Given the description of an element on the screen output the (x, y) to click on. 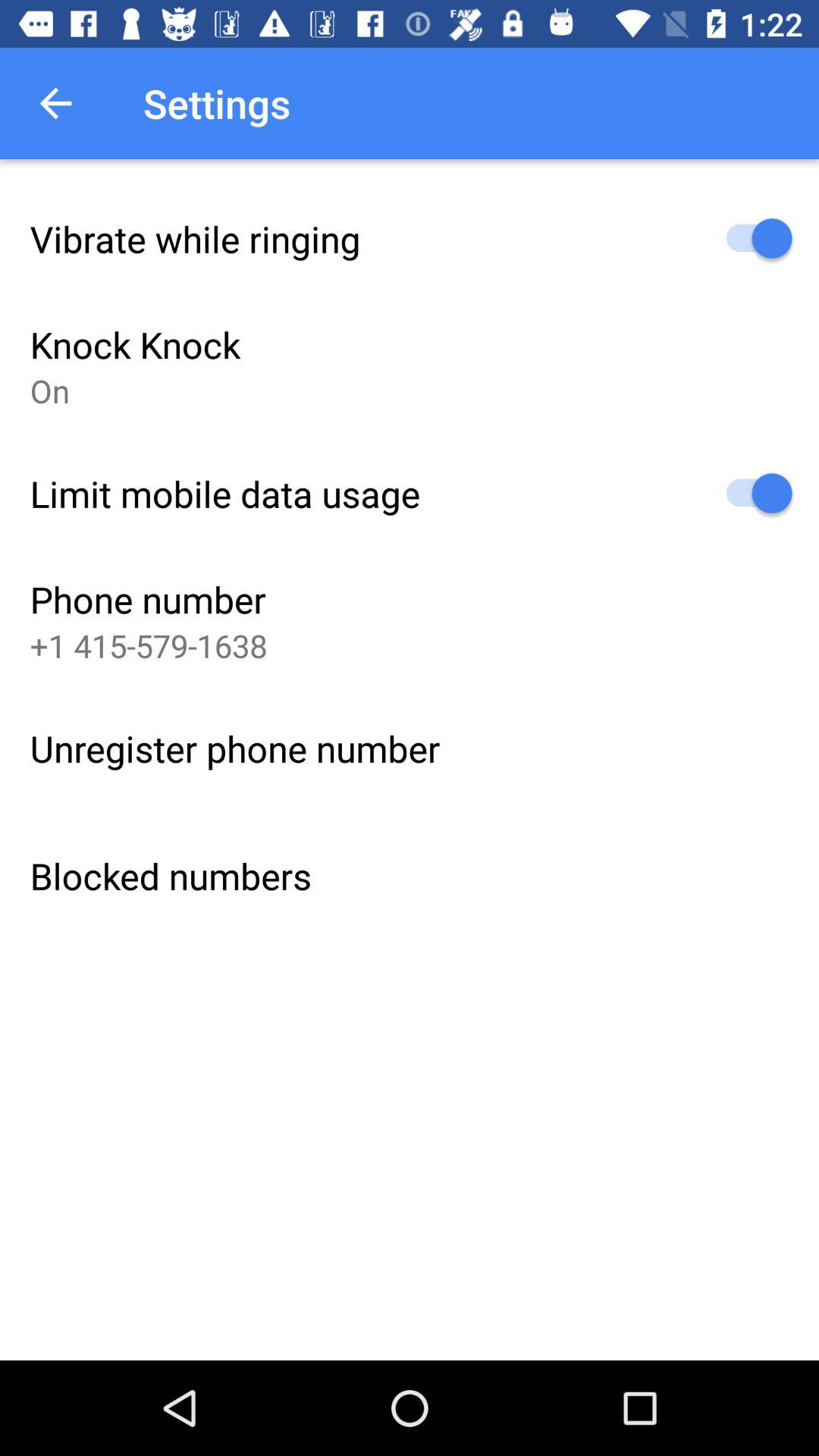
swipe to on item (49, 390)
